Given the description of an element on the screen output the (x, y) to click on. 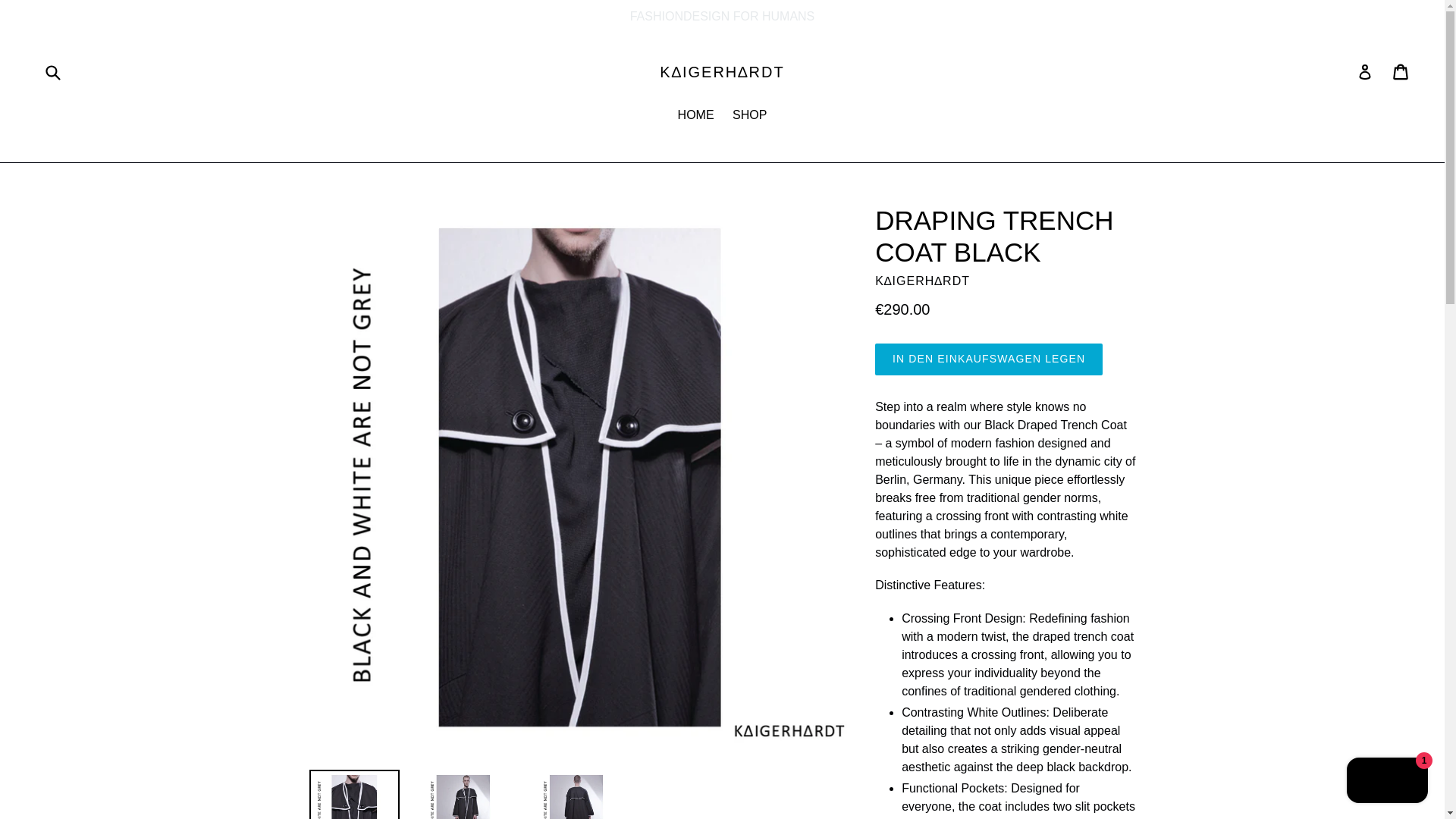
HOME (695, 116)
IN DEN EINKAUFSWAGEN LEGEN (988, 359)
SHOP (749, 116)
Onlineshop-Chat von Shopify (1387, 781)
